Given the description of an element on the screen output the (x, y) to click on. 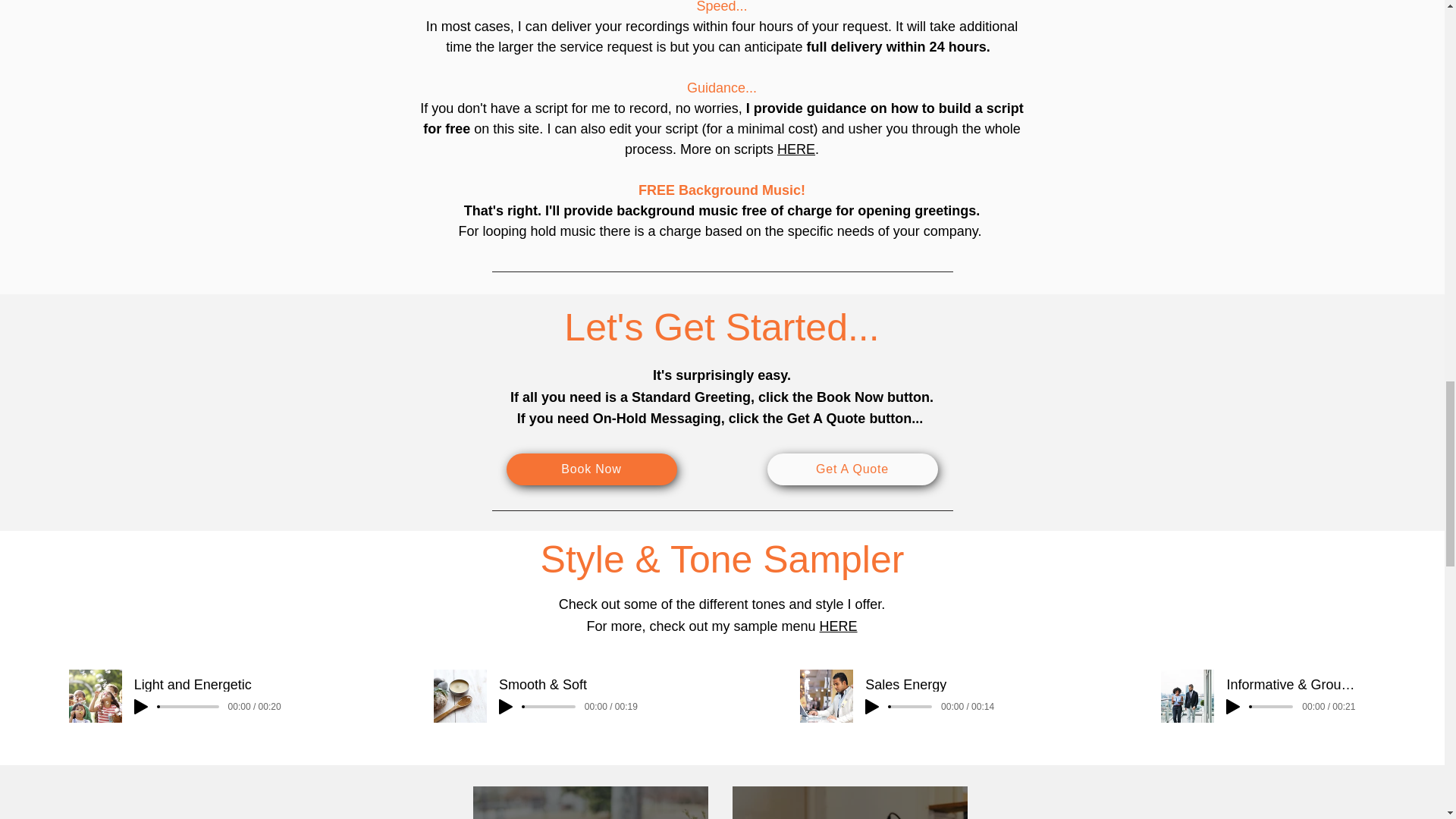
HERE (796, 149)
Book Now (591, 469)
Get A Quote (852, 469)
0 (548, 706)
0 (188, 706)
HERE (838, 626)
0 (910, 706)
0 (1271, 706)
